Given the description of an element on the screen output the (x, y) to click on. 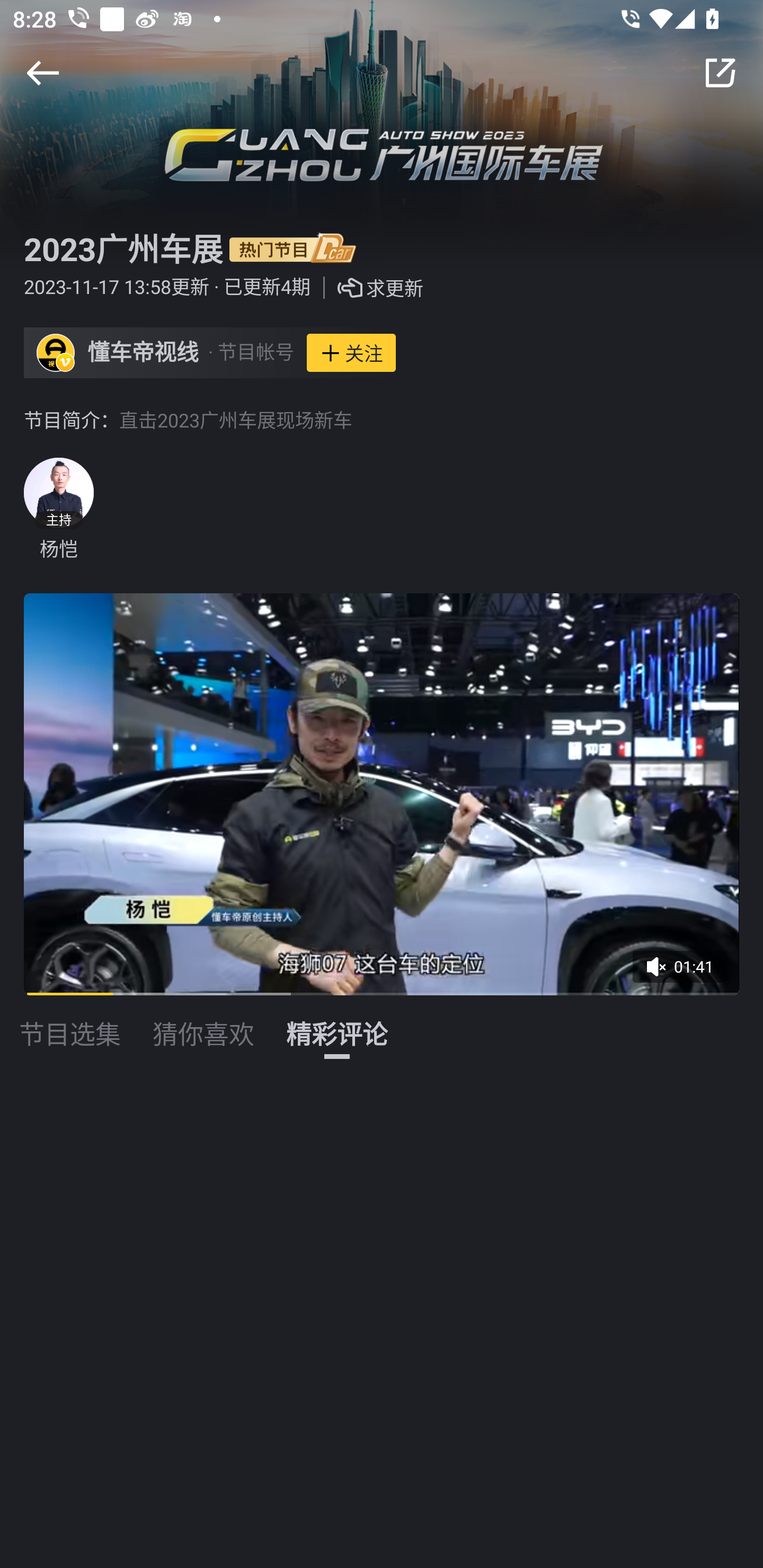
 (42, 72)
 (720, 72)
 求更新 (366, 287)
懂车帝视线 (142, 352)
· 节目帐号 (250, 352)
 关注 (350, 352)
主持 杨恺 (58, 509)
12.0 01:41 (381, 793)
01:41 (685, 972)
节目选集 (69, 1022)
猜你喜欢 (203, 1022)
精彩评论 (336, 1022)
